Given the description of an element on the screen output the (x, y) to click on. 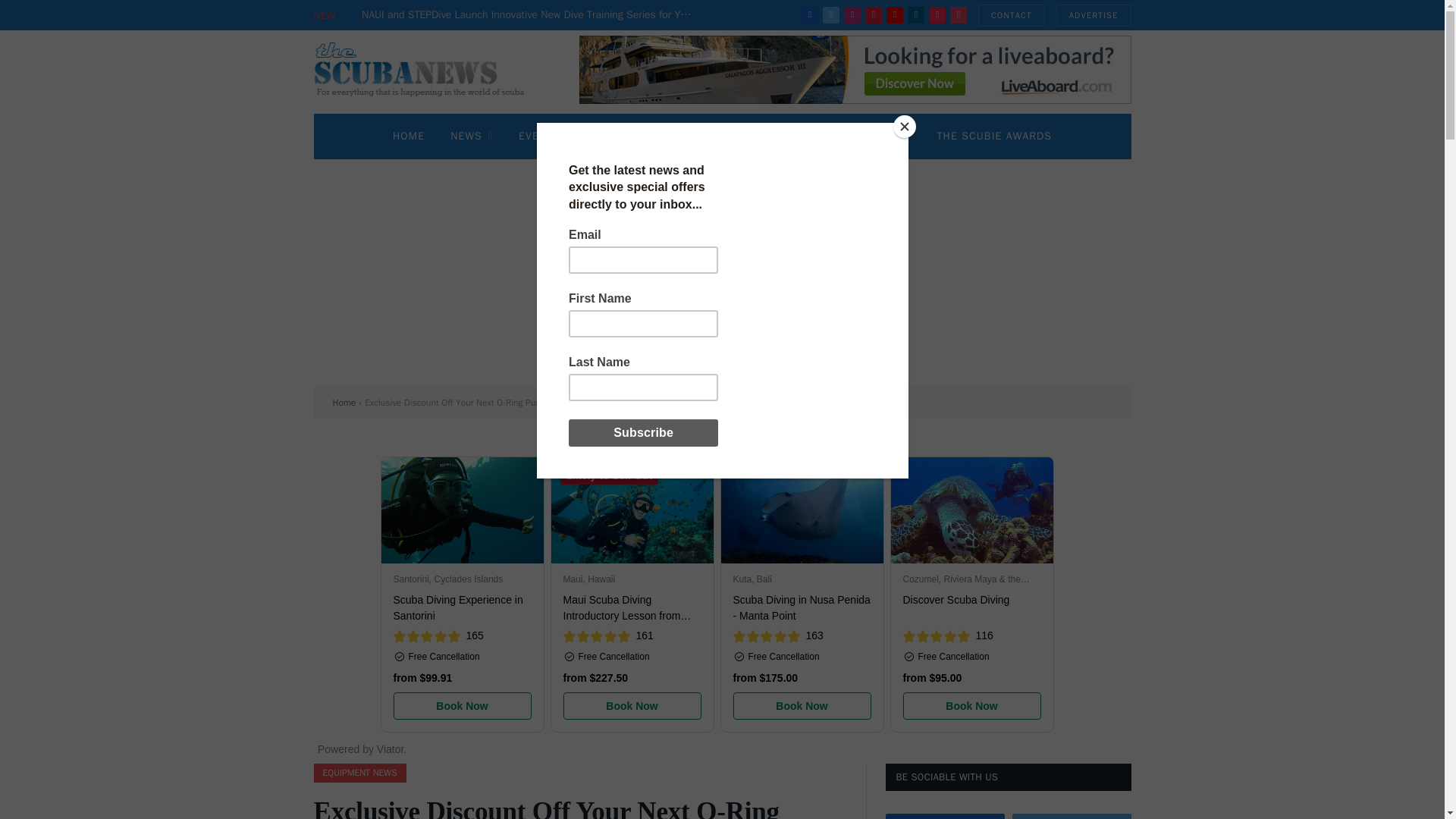
The Scuba News (427, 71)
Facebook (810, 14)
CONTACT (1011, 15)
HOME (409, 135)
NEWS (471, 135)
Pinterest (873, 14)
LinkedIn (915, 14)
ADVERTISE (1094, 15)
Threads (958, 14)
Instagram (852, 14)
YouTube (894, 14)
TikTok (936, 14)
